Given the description of an element on the screen output the (x, y) to click on. 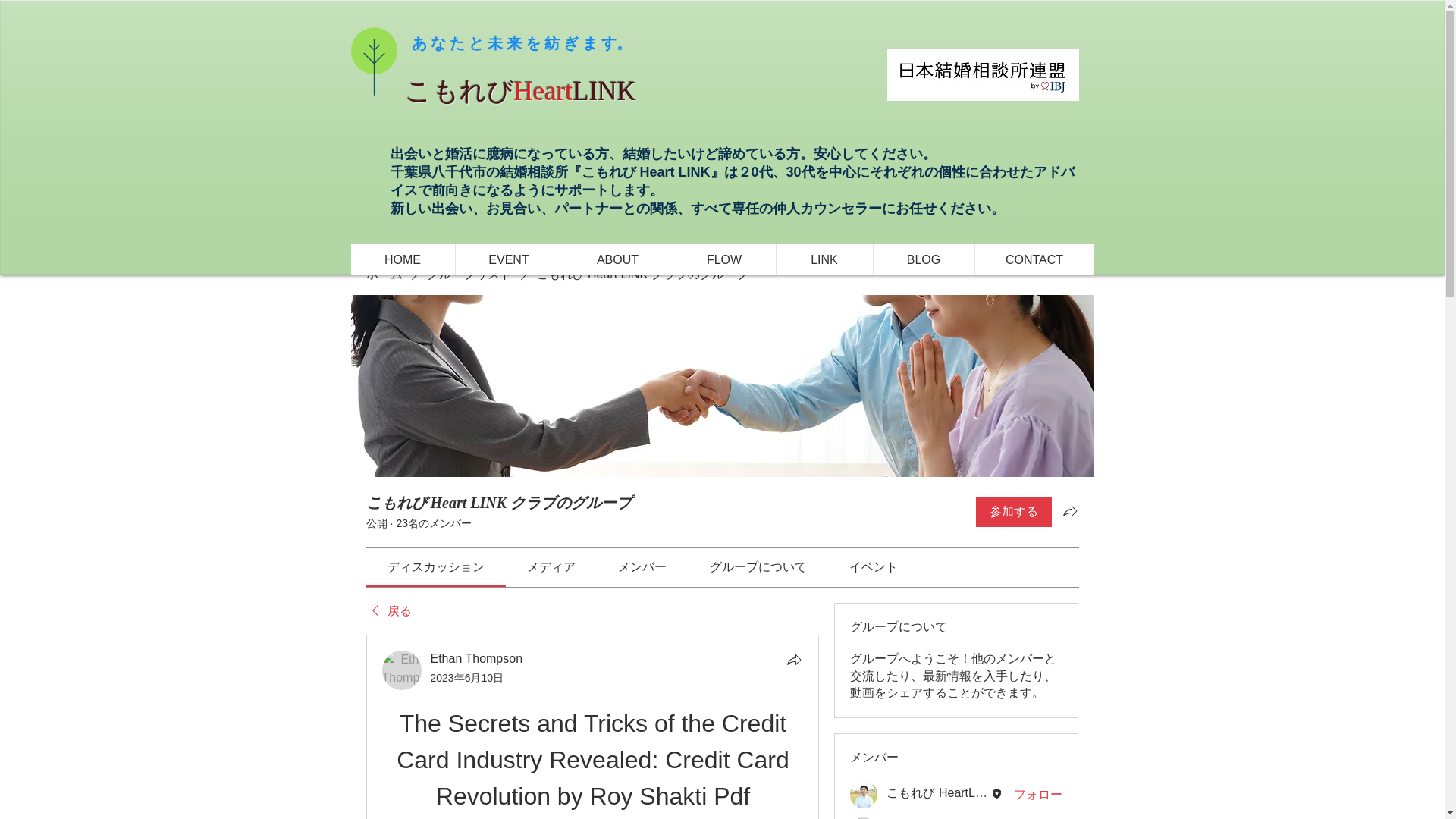
FLOW (722, 259)
Ethan Thompson (401, 670)
EVENT (508, 259)
HOME (402, 259)
BLOG (923, 259)
ABOUT (617, 259)
LINK (823, 259)
CONTACT (1033, 259)
Love (863, 818)
